Given the description of an element on the screen output the (x, y) to click on. 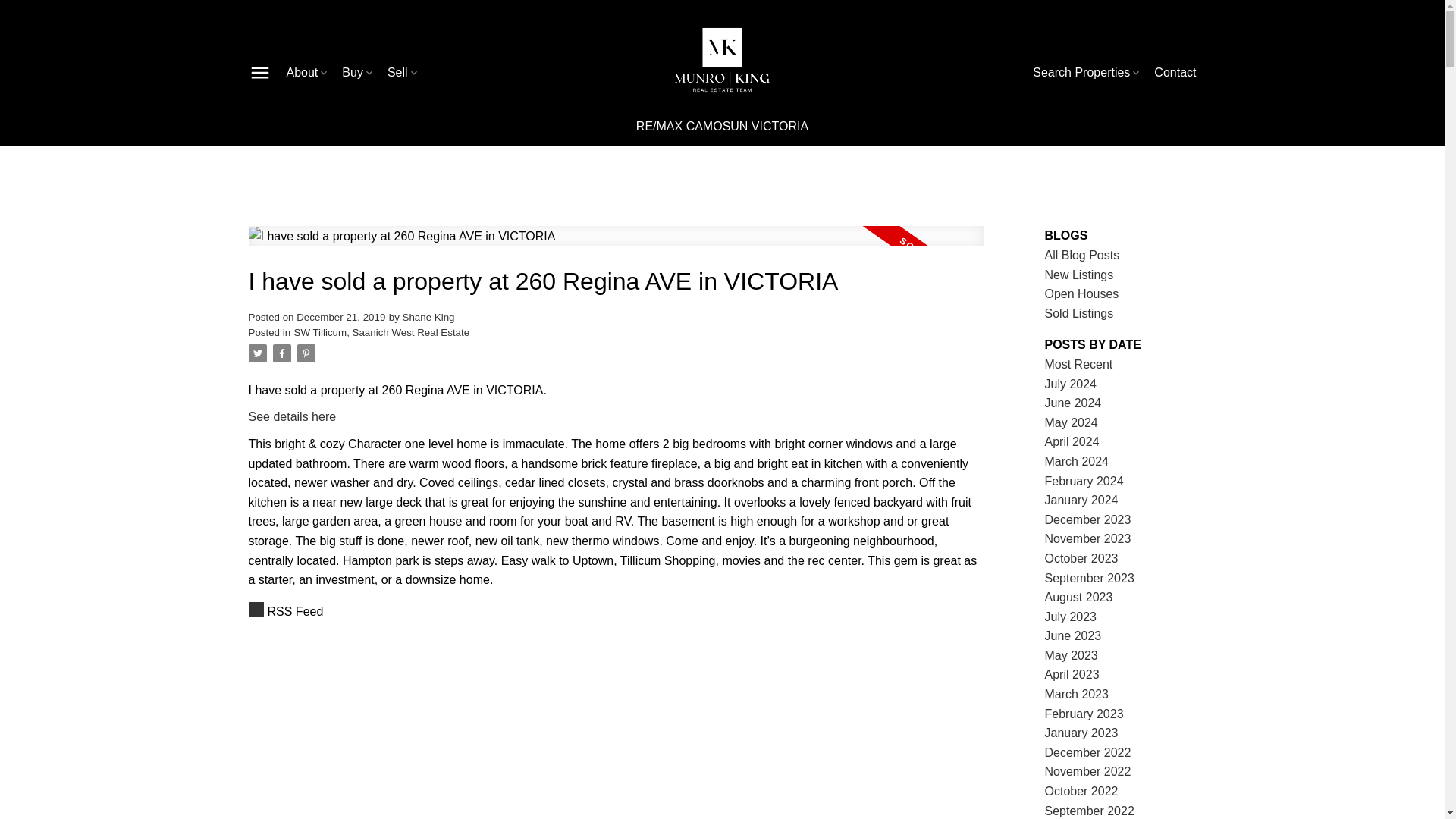
June 2024 (1073, 402)
March 2024 (1077, 461)
SW Tillicum, Saanich West Real Estate (382, 332)
February 2024 (1084, 481)
Contact (1174, 72)
September 2023 (1089, 577)
Most Recent (1079, 364)
January 2024 (1081, 499)
October 2023 (1081, 558)
New Listings (1079, 274)
November 2023 (1088, 538)
April 2024 (1072, 440)
See details here (292, 416)
RSS (616, 611)
May 2024 (1071, 422)
